Given the description of an element on the screen output the (x, y) to click on. 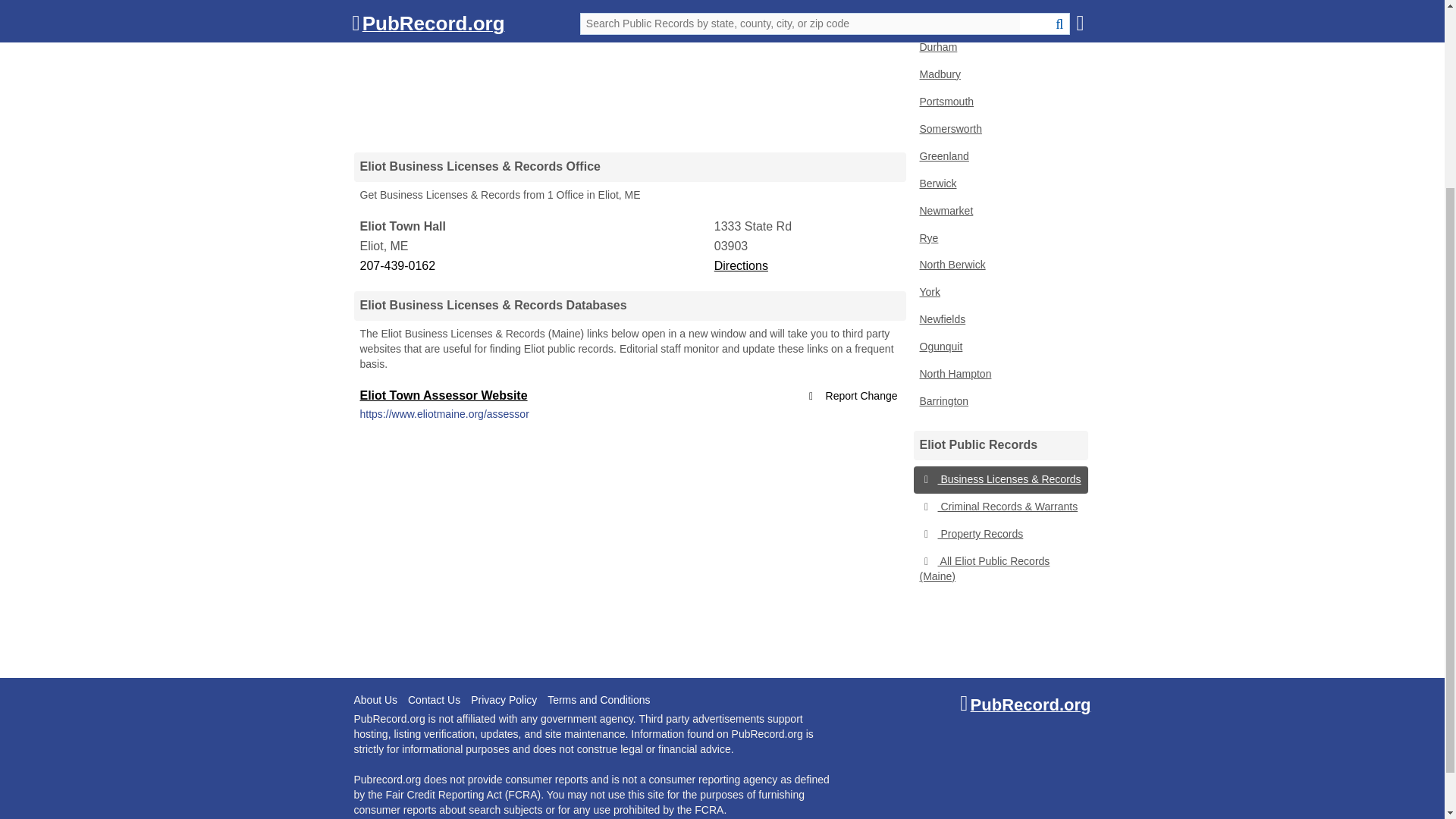
Durham (999, 47)
Rye (999, 238)
North Hampton (999, 374)
York (999, 292)
Newmarket (999, 211)
Newfields (999, 319)
Berwick (999, 184)
Kittery (999, 3)
Advertisement (629, 68)
South Berwick (999, 20)
